Given the description of an element on the screen output the (x, y) to click on. 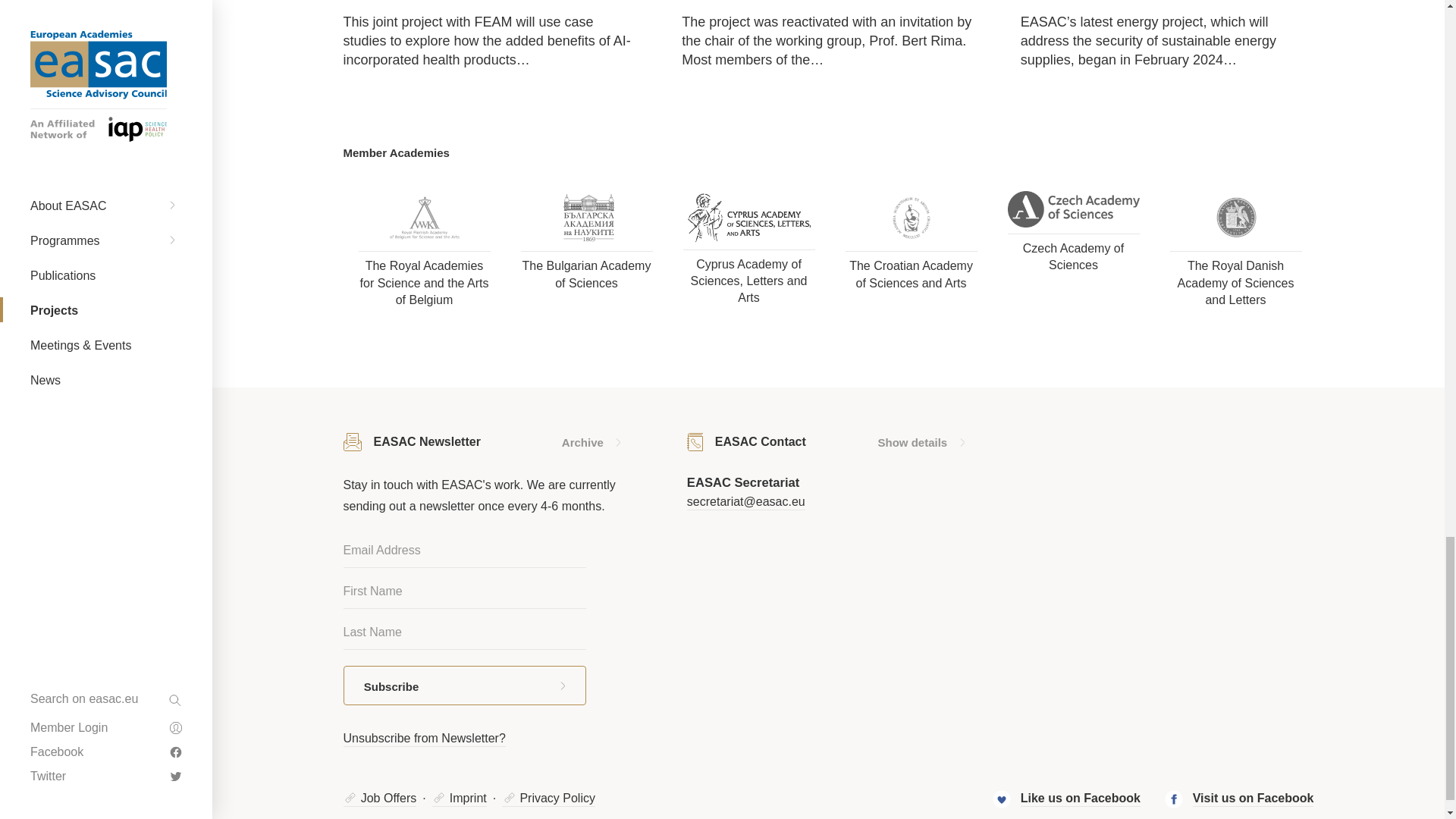
Subscribe (463, 685)
